Given the description of an element on the screen output the (x, y) to click on. 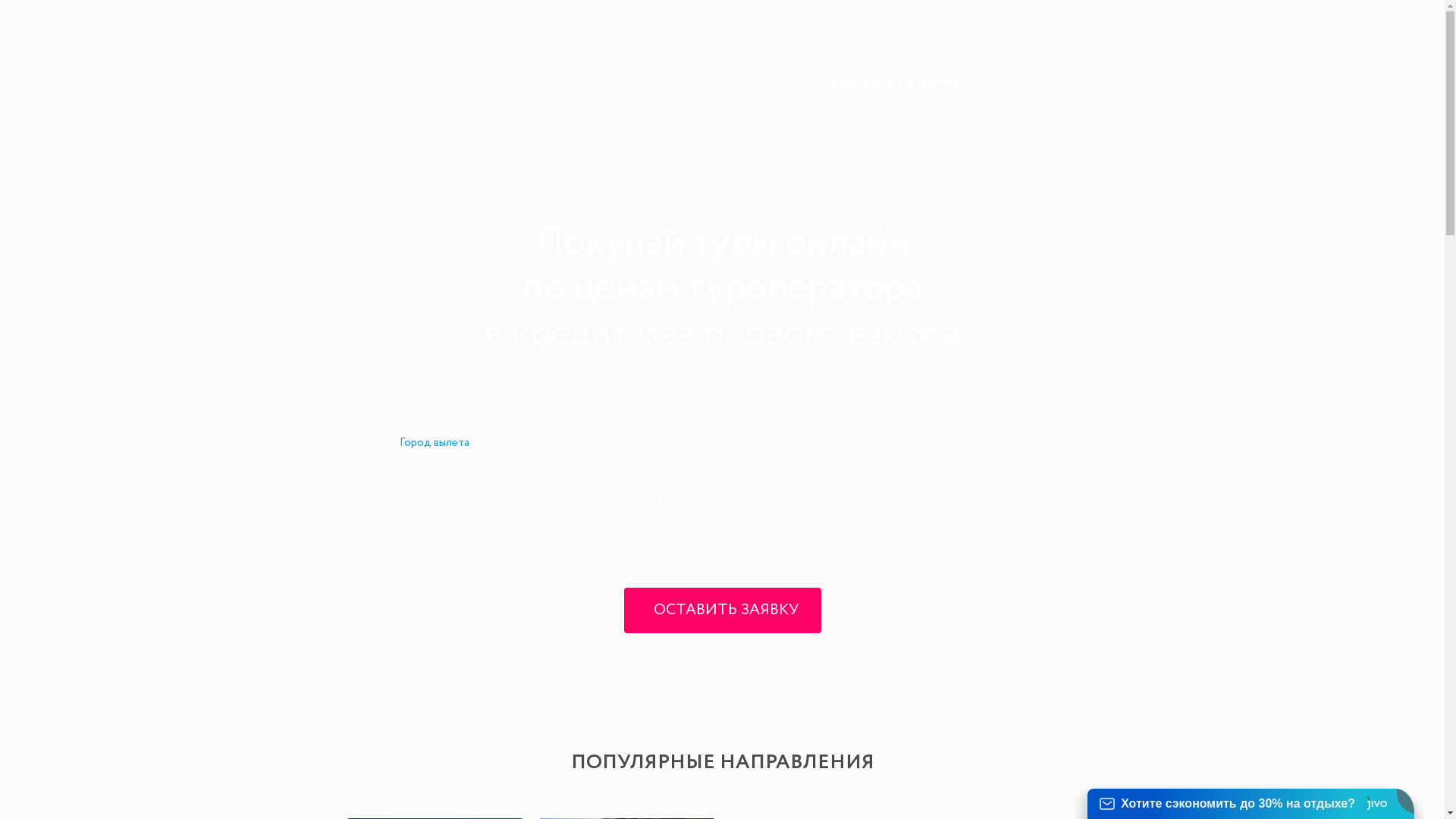
+375 29 175 46 06 Element type: text (888, 84)
